Given the description of an element on the screen output the (x, y) to click on. 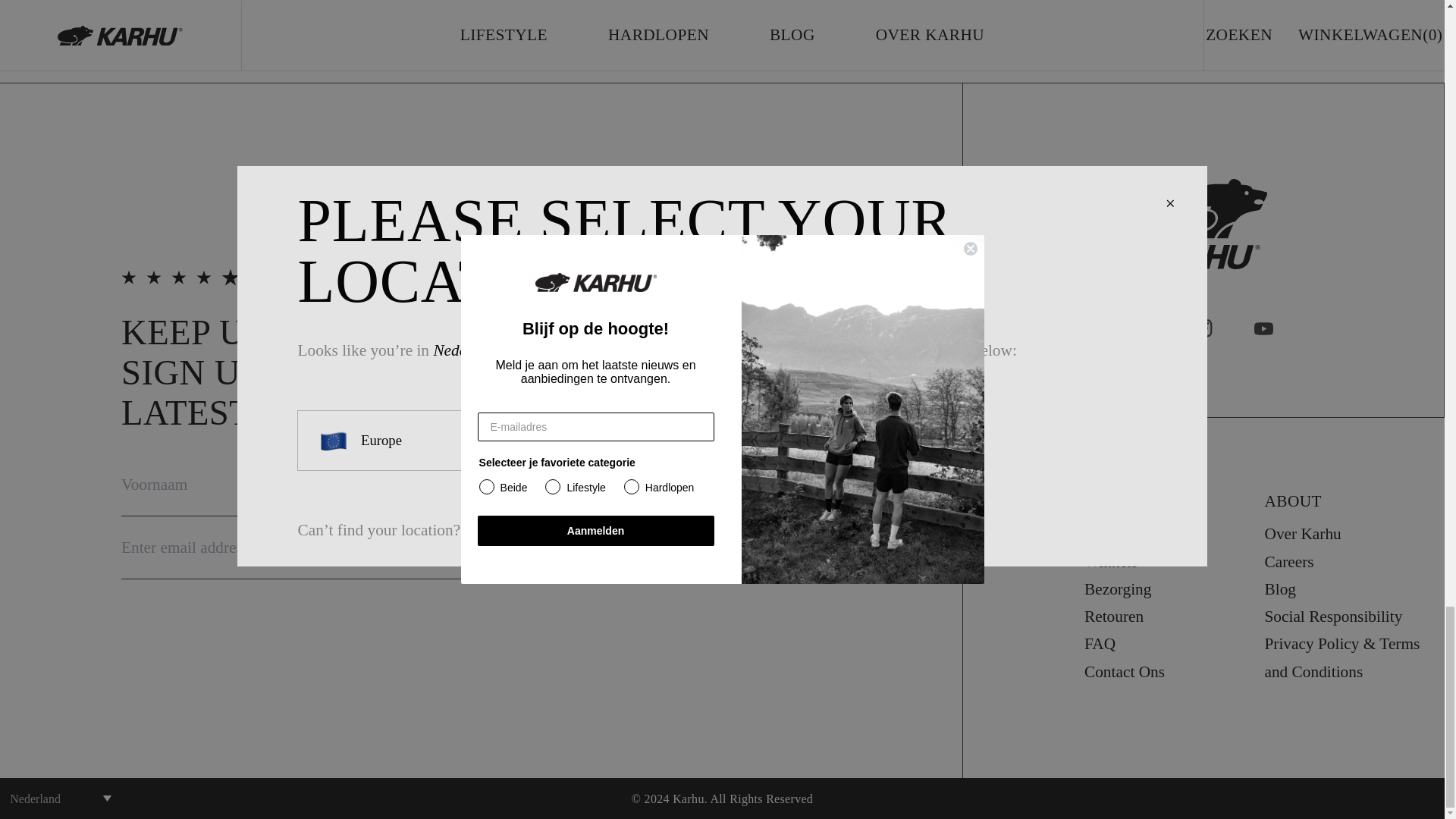
Karhu op Instagram (1202, 328)
Karhu op YouTube (1262, 328)
Karhu op Facebook (1141, 328)
